Given the description of an element on the screen output the (x, y) to click on. 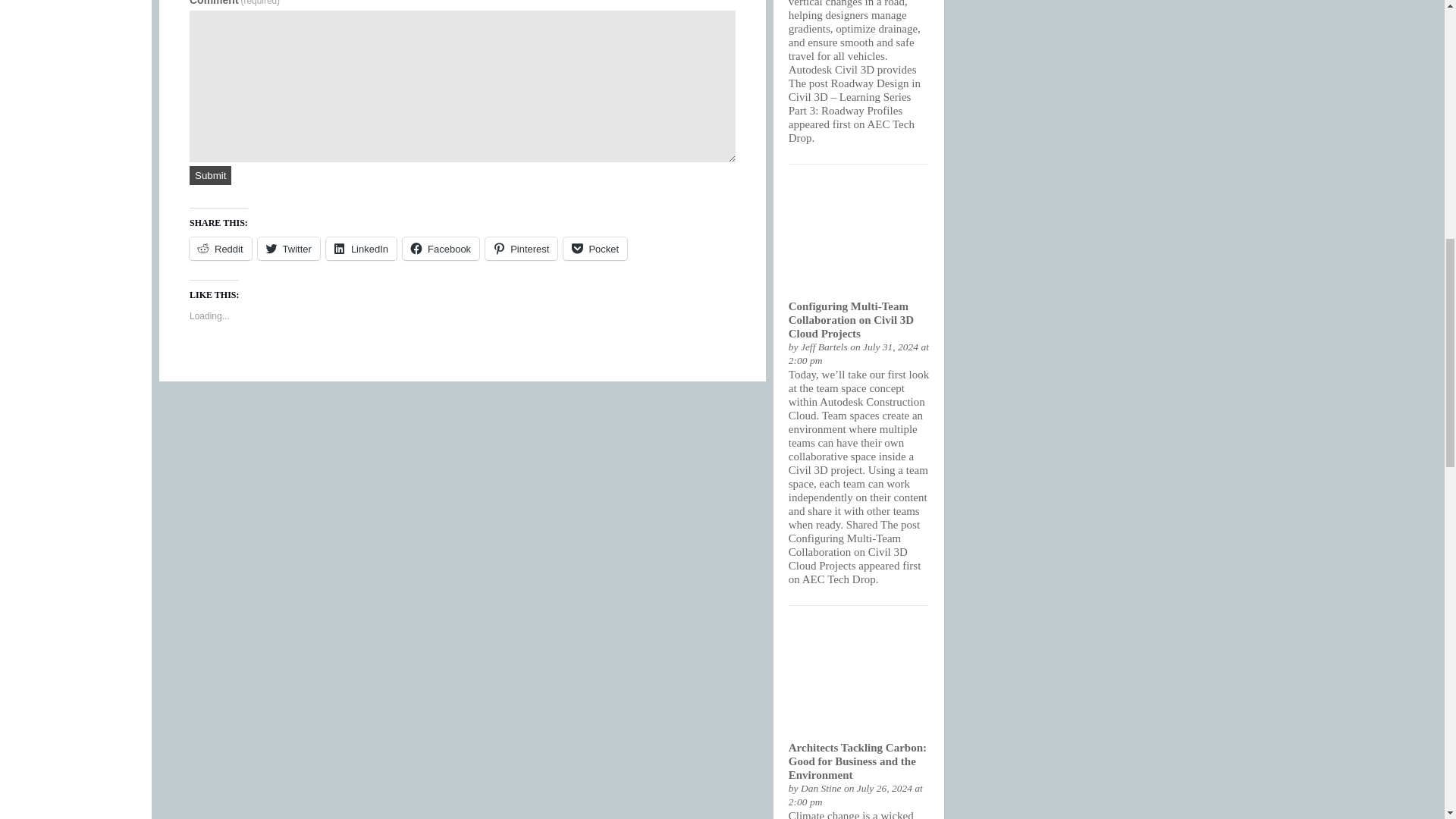
Click to share on Pocket (595, 248)
Click to share on Twitter (288, 248)
autodeskblog.wpengine.com (823, 346)
Click to share on Pinterest (520, 248)
Submit (210, 175)
Twitter (288, 248)
Click to share on Facebook (441, 248)
Click to share on Reddit (220, 248)
Click to share on LinkedIn (361, 248)
Reddit (220, 248)
Pinterest (520, 248)
Pocket (595, 248)
LinkedIn (361, 248)
